Given the description of an element on the screen output the (x, y) to click on. 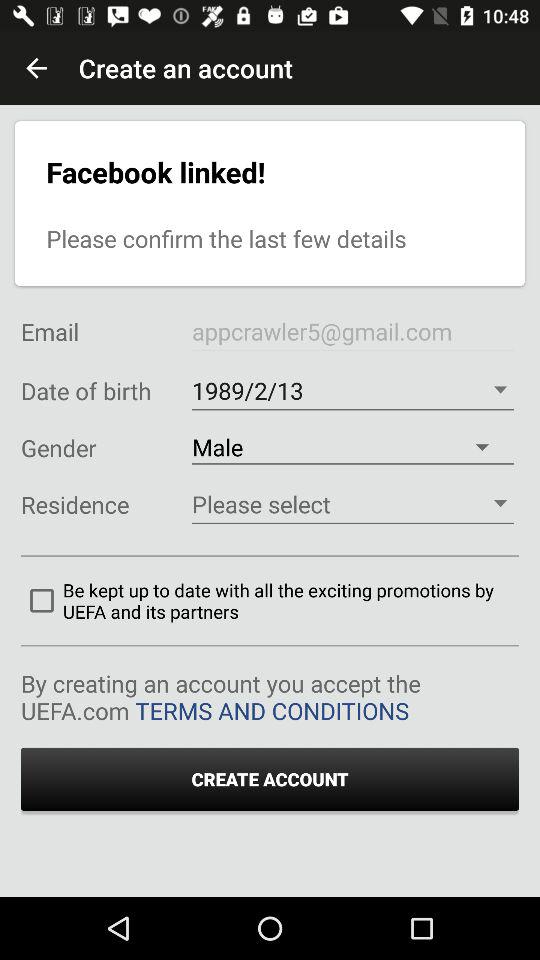
choose the residence (352, 504)
